Given the description of an element on the screen output the (x, y) to click on. 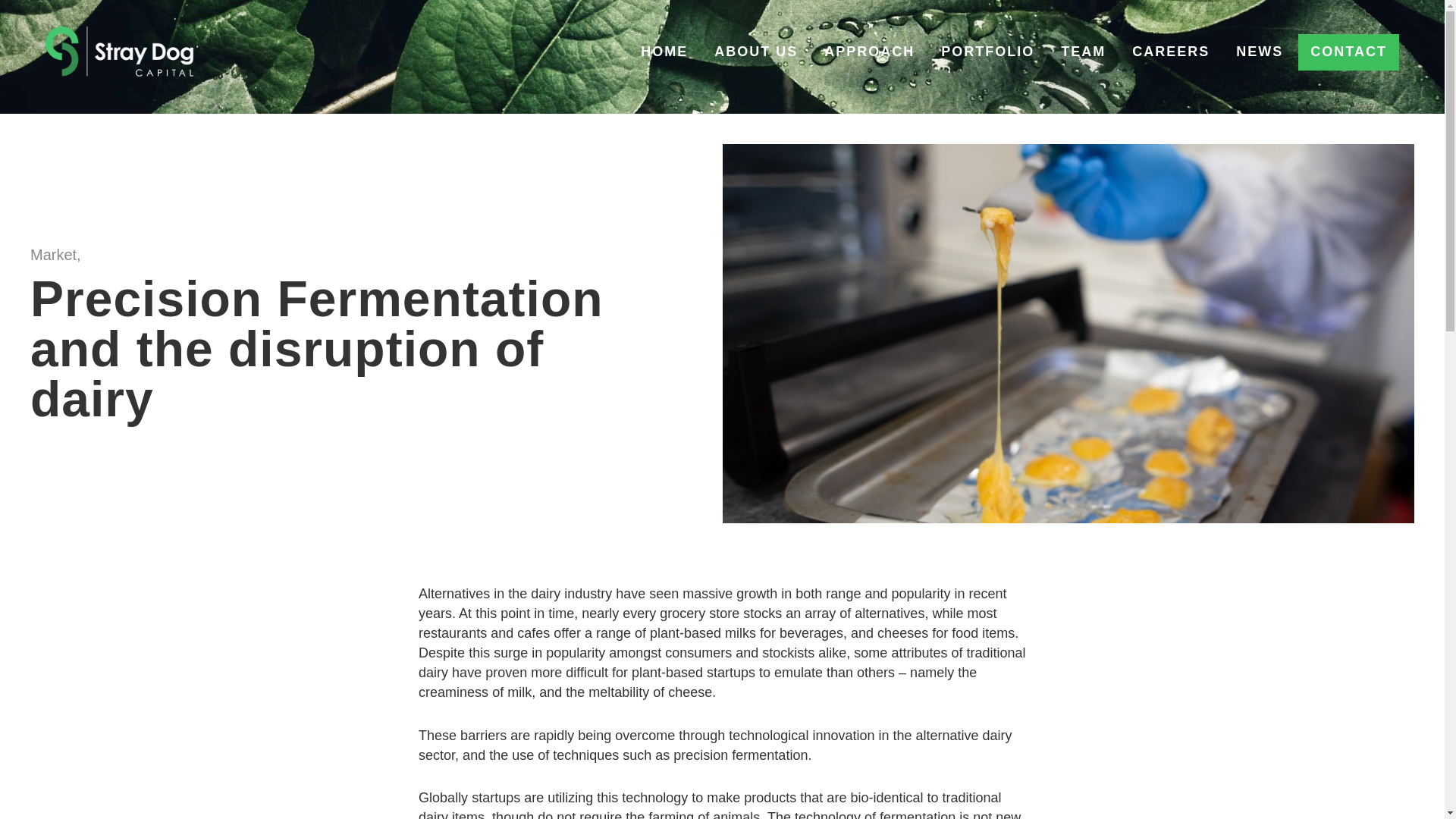
APPROACH (869, 52)
Stray Dog Capital (70, 48)
ABOUT US (756, 52)
NEWS (1259, 52)
PORTFOLIO (987, 52)
TEAM (1082, 52)
CONTACT (1348, 52)
CAREERS (1171, 52)
HOME (663, 52)
